Given the description of an element on the screen output the (x, y) to click on. 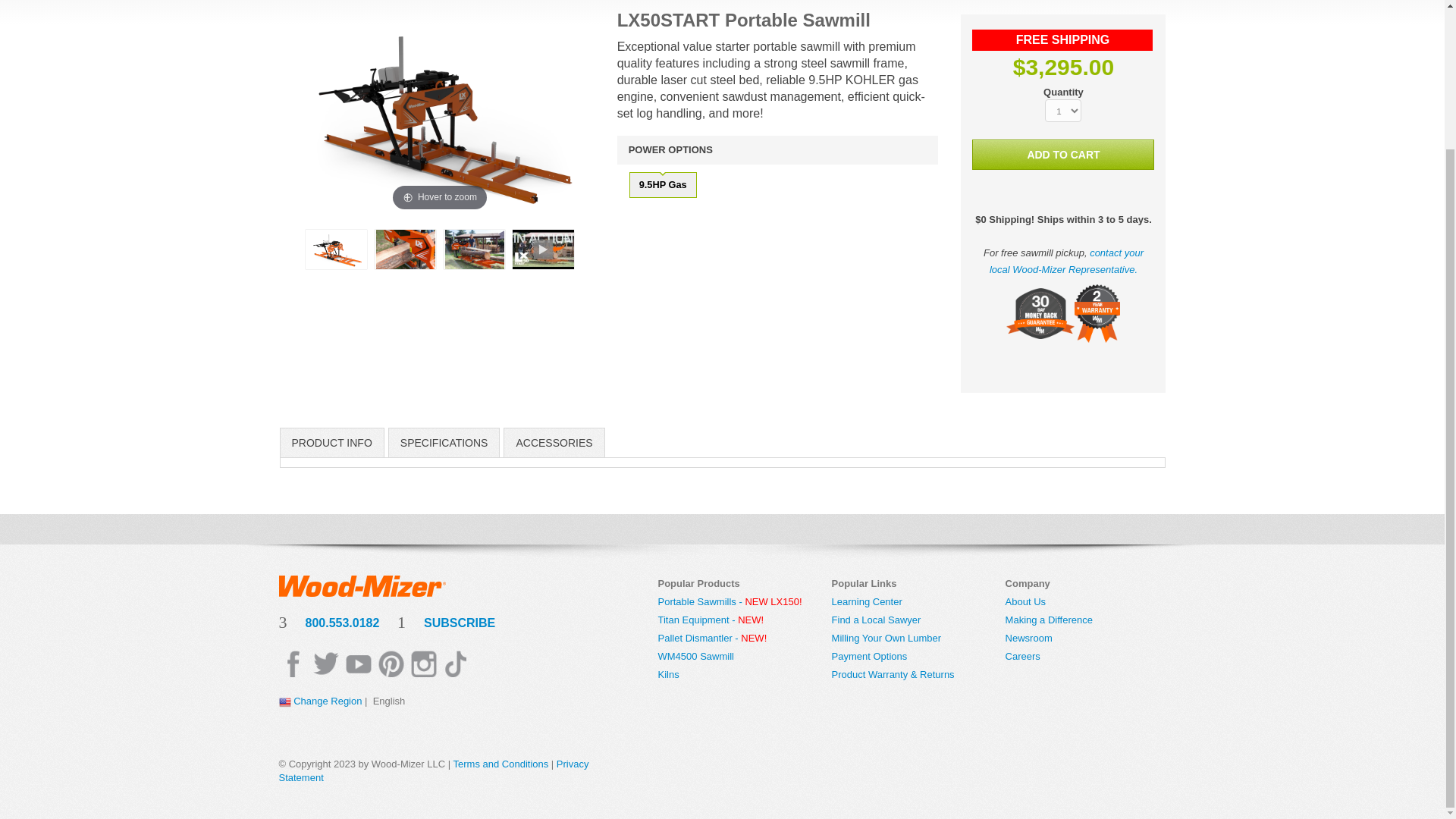
Instagram (423, 663)
Facebook (293, 663)
Twitter (325, 663)
Instagram (455, 663)
Youtube (357, 663)
Wood-Mizer (362, 585)
Pinterest (389, 663)
